Given the description of an element on the screen output the (x, y) to click on. 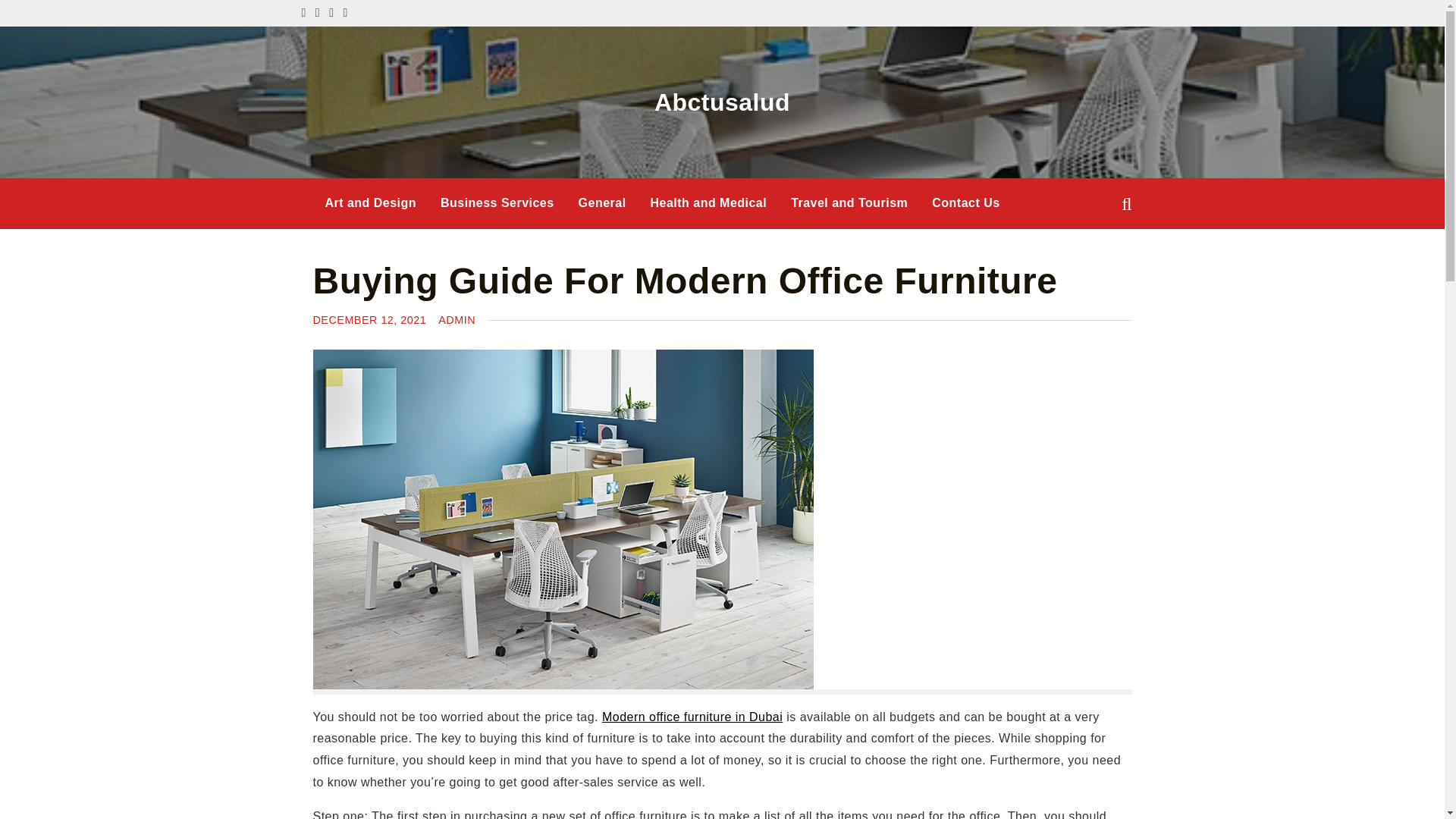
ADMIN (457, 319)
Business Services (497, 203)
Art and Design (370, 203)
Travel and Tourism (849, 203)
Abctusalud (721, 102)
Search (39, 13)
Modern office furniture in Dubai (692, 716)
DECEMBER 12, 2021 (369, 319)
Contact Us (965, 203)
Health and Medical (708, 203)
General (602, 203)
